Given the description of an element on the screen output the (x, y) to click on. 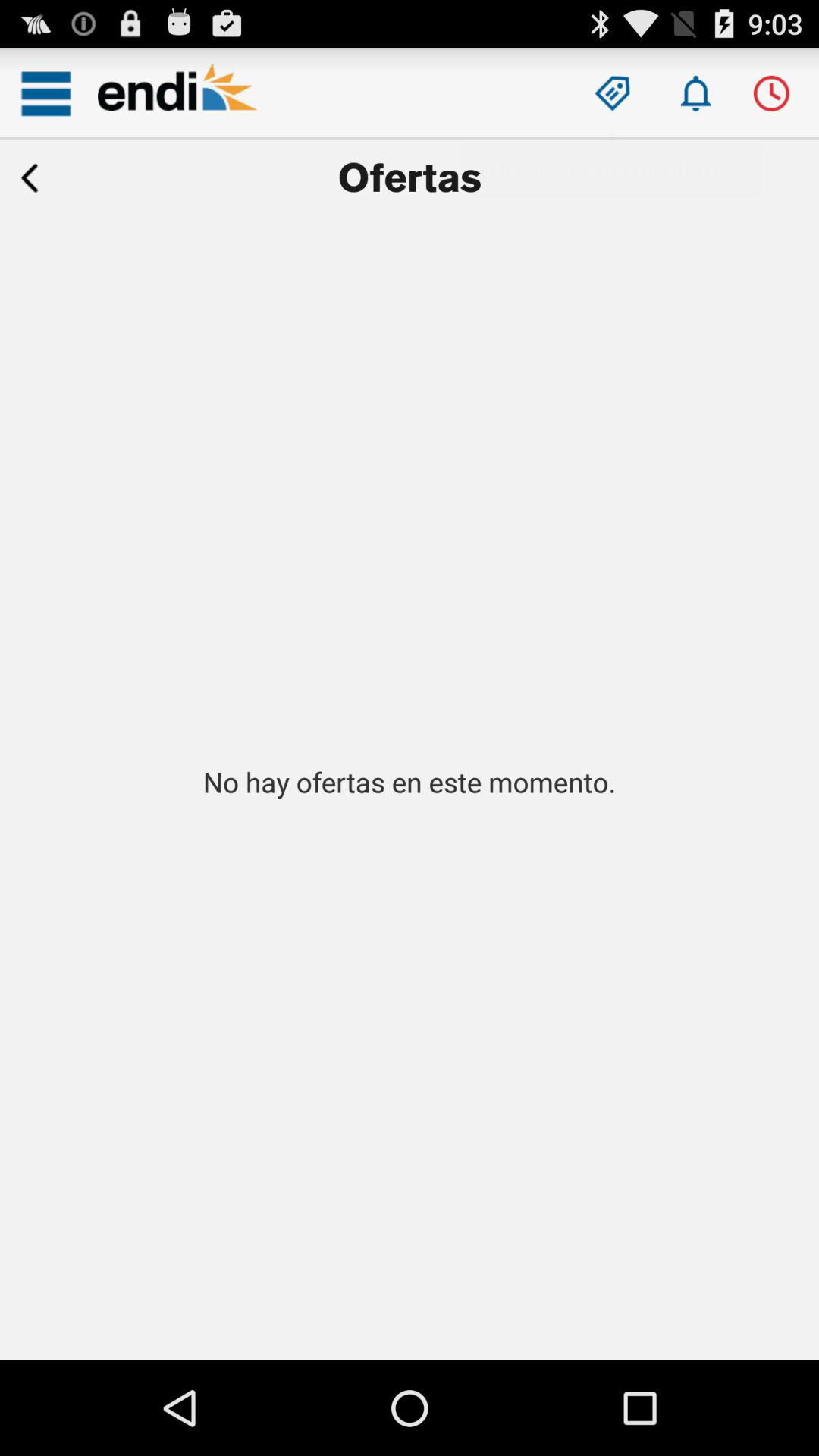
hourly news (771, 93)
